Given the description of an element on the screen output the (x, y) to click on. 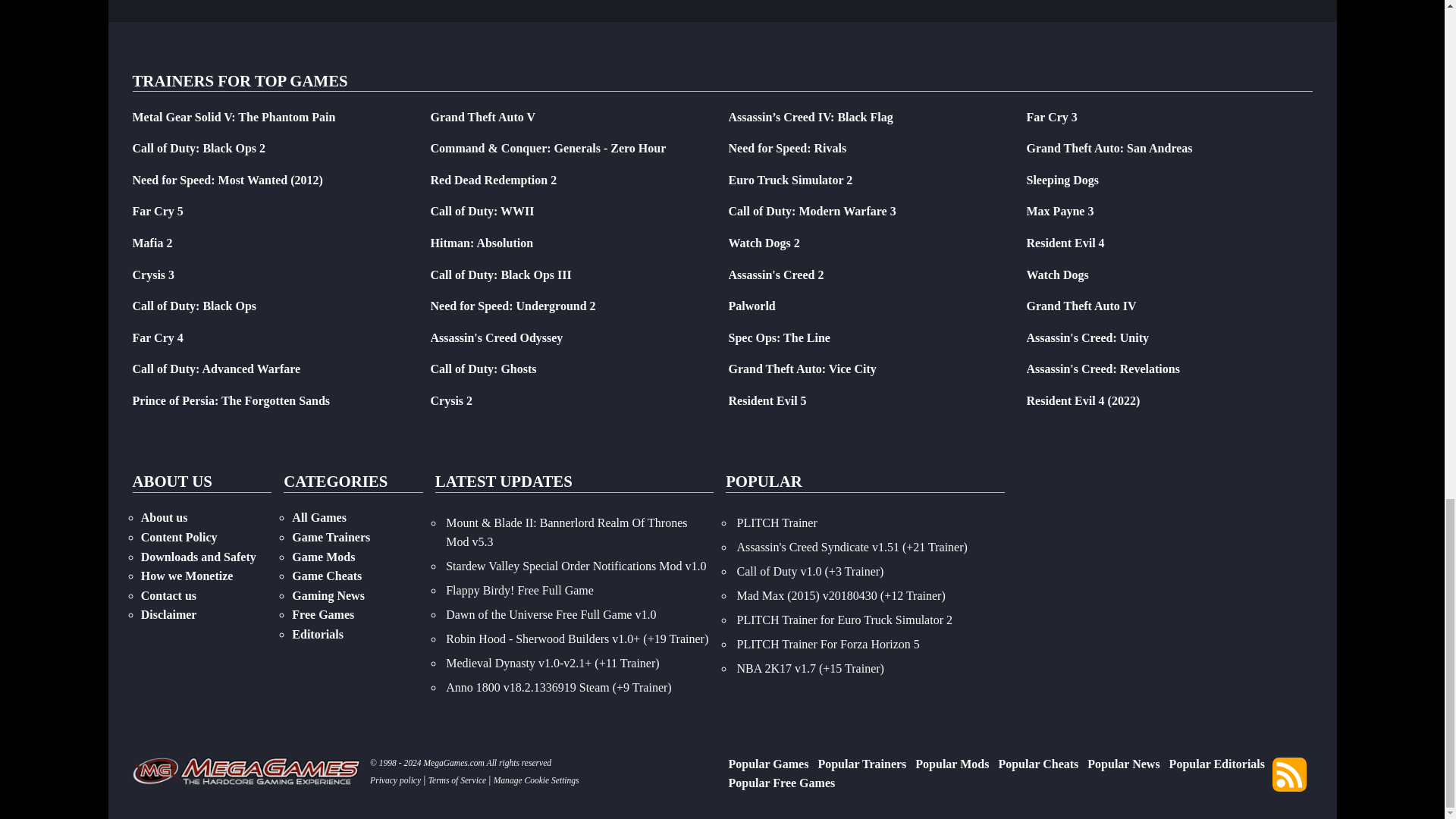
Grand Theft Auto V (482, 116)
Metal Gear Solid V: The Phantom Pain (233, 116)
Far Cry 3 (1051, 116)
